Given the description of an element on the screen output the (x, y) to click on. 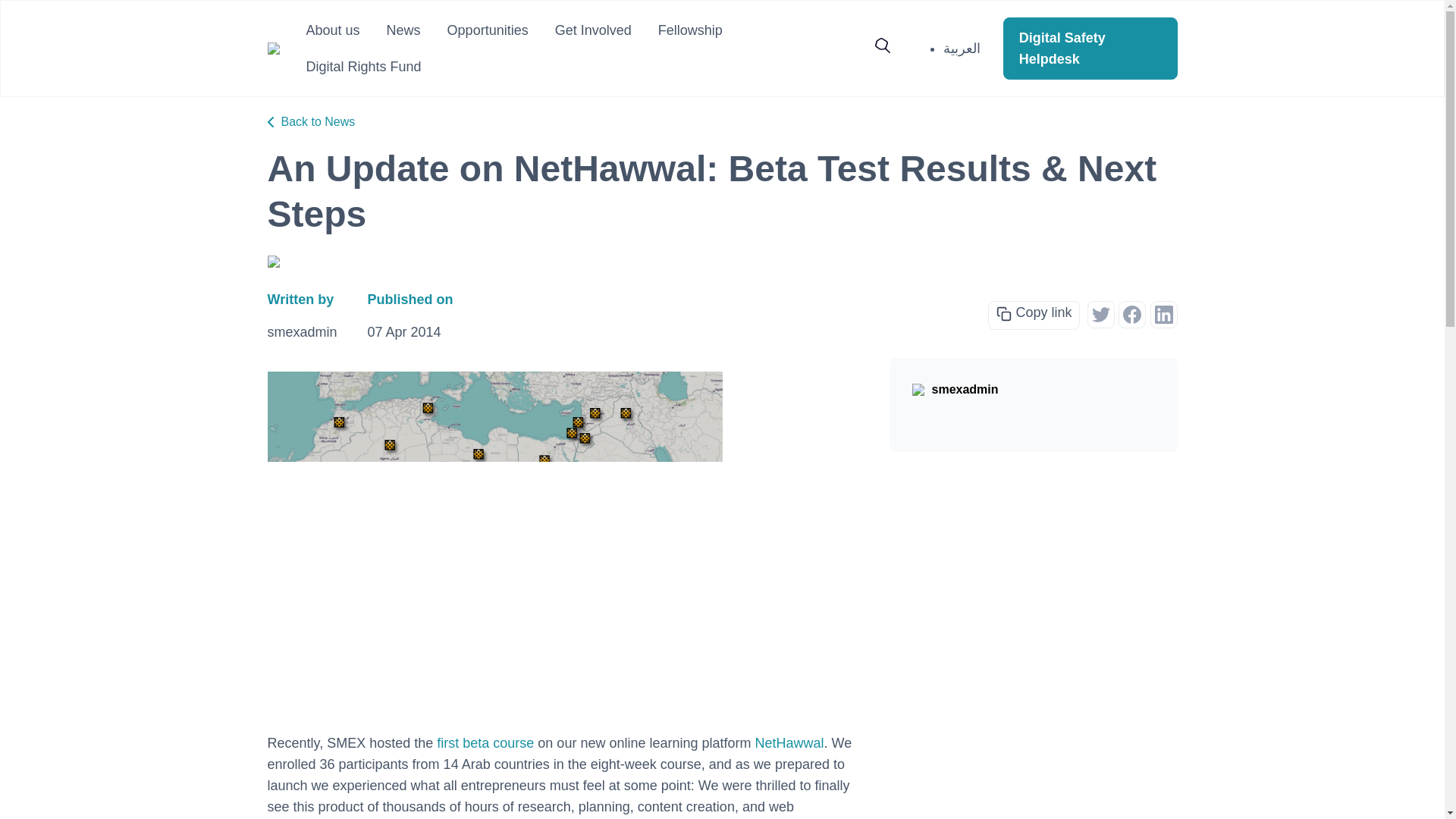
About us (332, 29)
Back to News (310, 121)
NetHawwal (789, 743)
Digital Safety Helpdesk (1090, 48)
Digital Rights Fund (363, 66)
first beta course (485, 743)
Get Involved (592, 29)
Fellowship (690, 29)
News (403, 29)
Opportunities (487, 29)
